Given the description of an element on the screen output the (x, y) to click on. 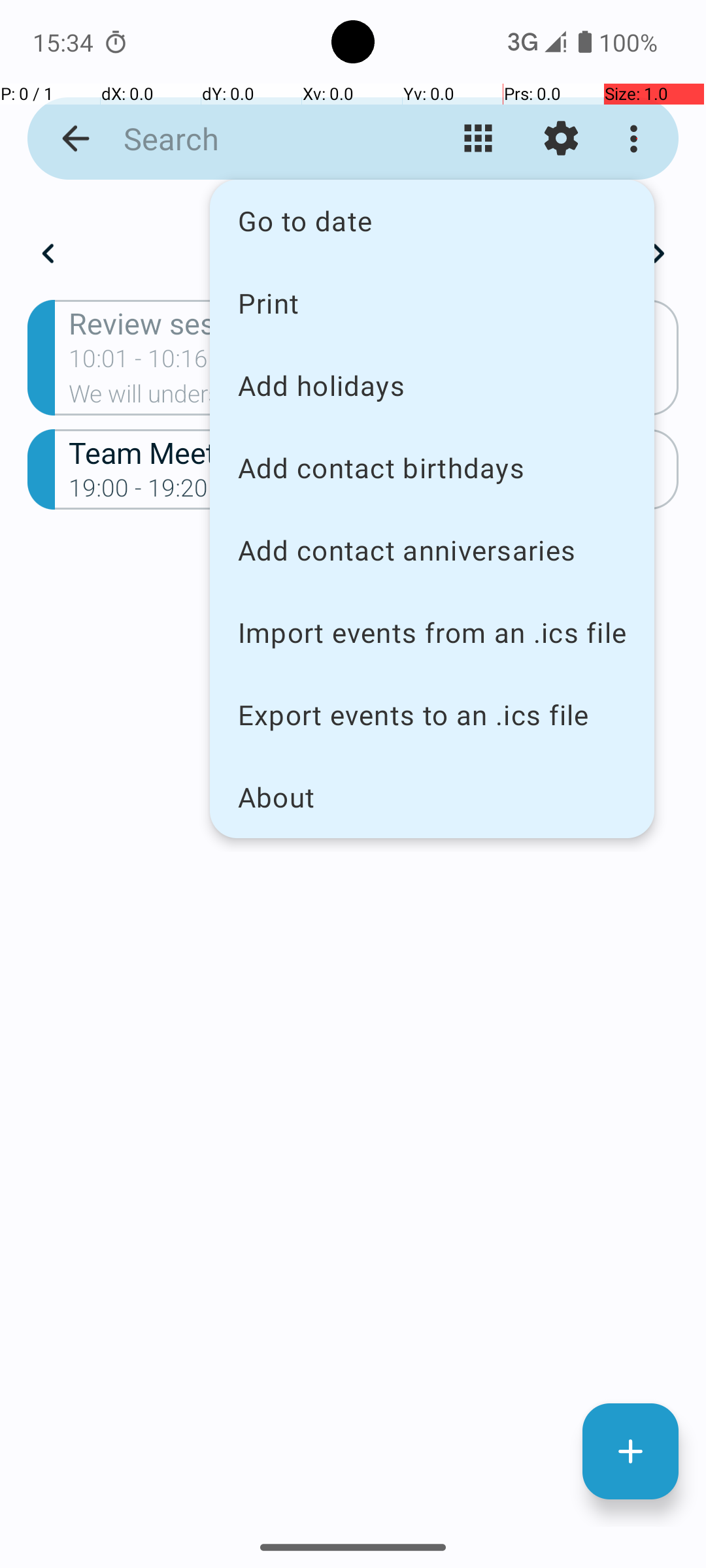
Go to date Element type: android.widget.TextView (431, 220)
Print Element type: android.widget.TextView (431, 302)
Add holidays Element type: android.widget.TextView (431, 384)
Add contact birthdays Element type: android.widget.TextView (431, 467)
Add contact anniversaries Element type: android.widget.TextView (431, 549)
Import events from an .ics file Element type: android.widget.TextView (431, 631)
Export events to an .ics file Element type: android.widget.TextView (431, 714)
